Given the description of an element on the screen output the (x, y) to click on. 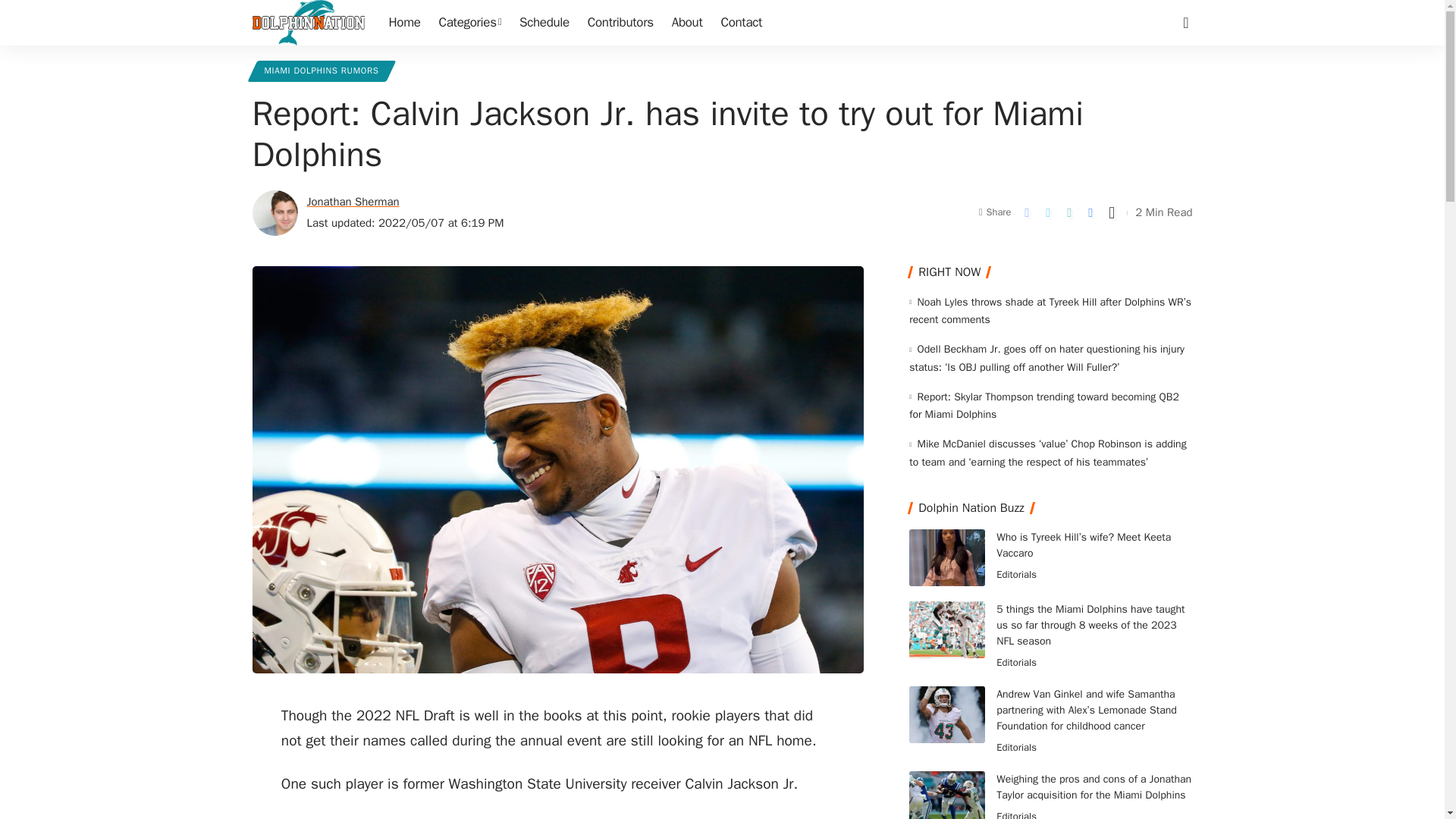
Contributors (620, 22)
Dolphin Nation (307, 22)
About (686, 22)
Jonathan Sherman (351, 201)
MIAMI DOLPHINS RUMORS (320, 70)
Categories (470, 22)
Contact (741, 22)
Schedule (544, 22)
